Given the description of an element on the screen output the (x, y) to click on. 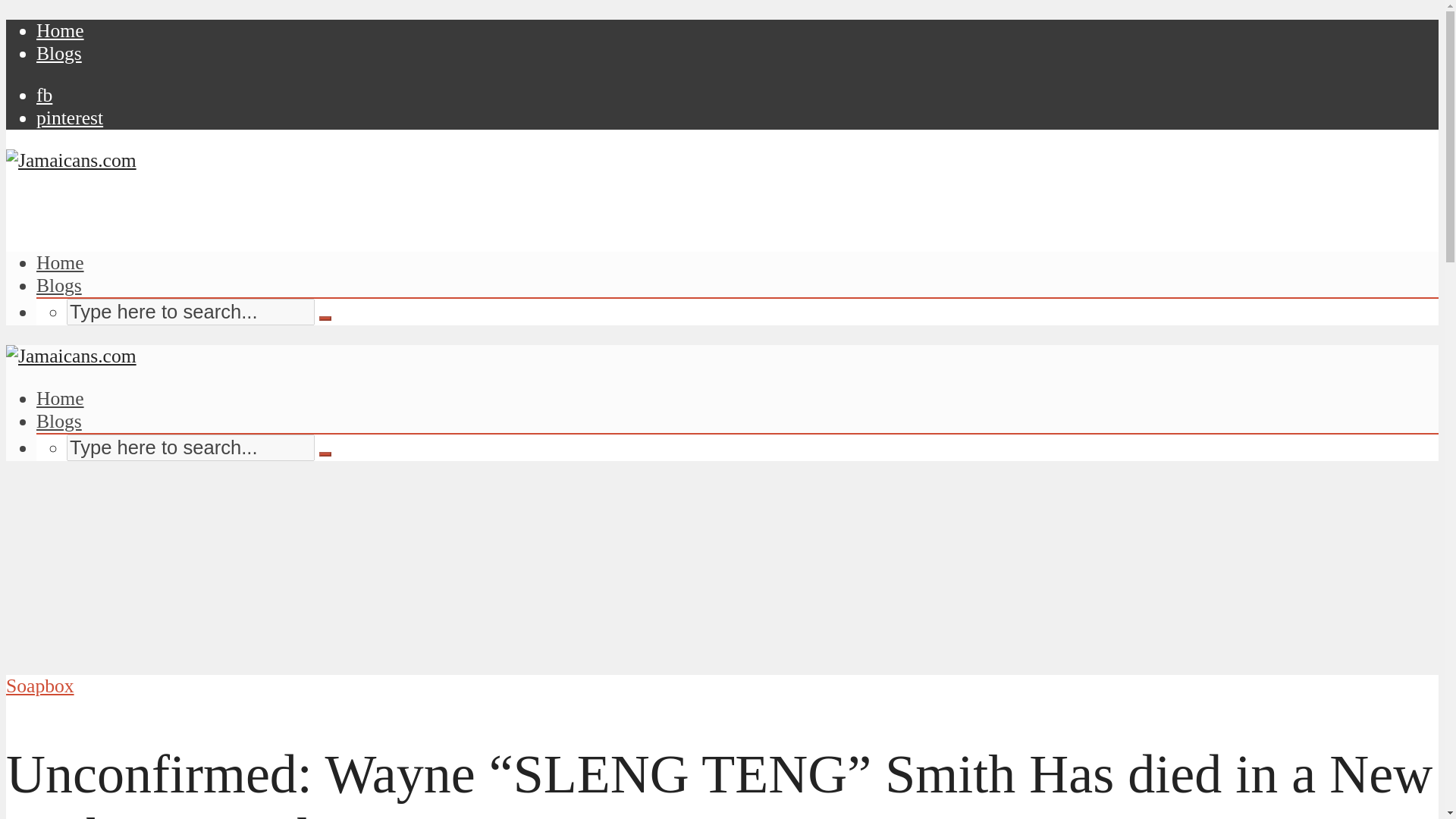
Blogs (58, 53)
Blogs (58, 285)
Type here to search... (190, 311)
Type here to search... (190, 447)
Home (60, 30)
Type here to search... (190, 311)
pinterest (69, 117)
Type here to search... (190, 447)
fb (44, 95)
Home (60, 398)
Blogs (58, 421)
Soapbox (39, 685)
Home (60, 262)
